Given the description of an element on the screen output the (x, y) to click on. 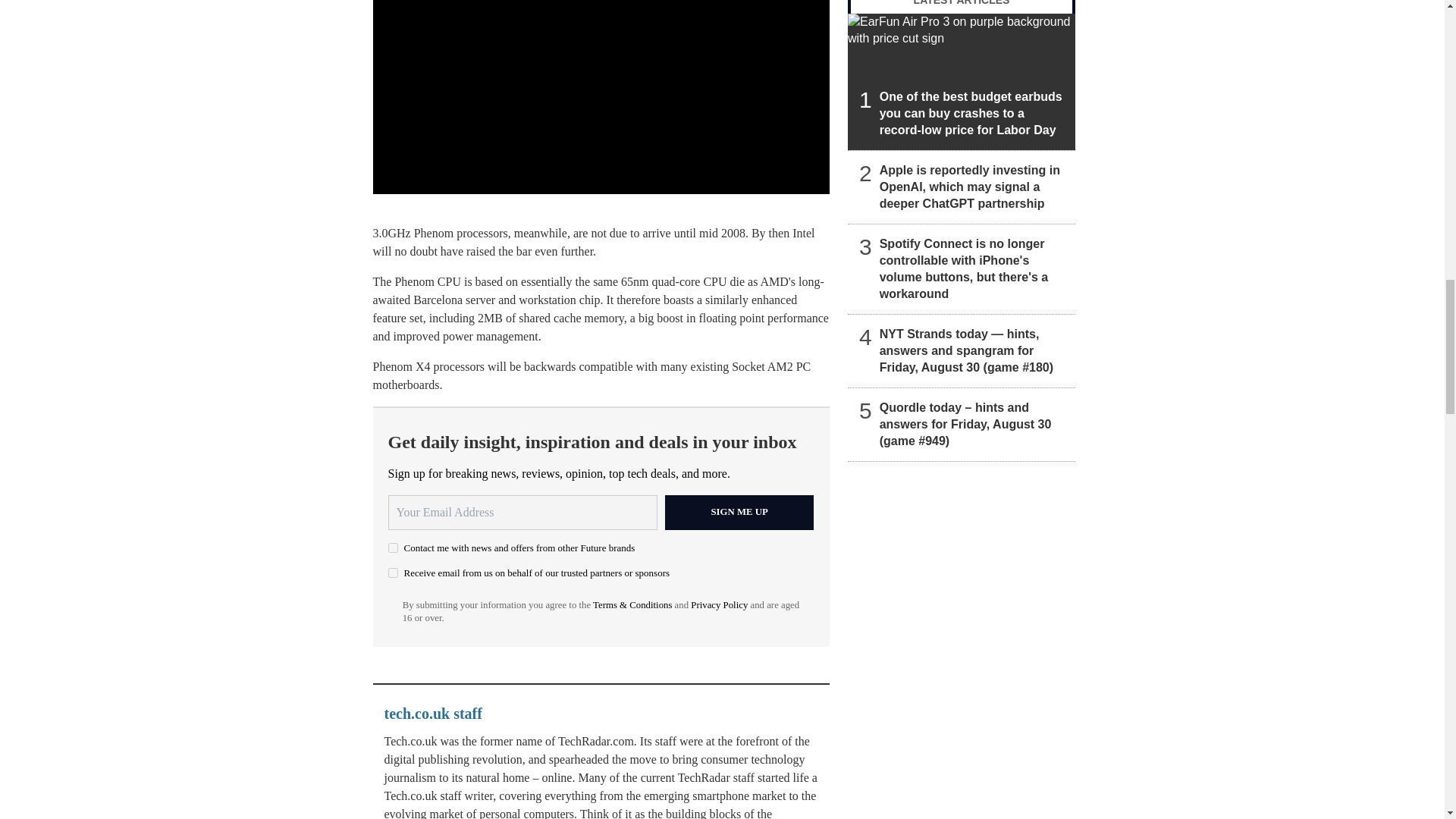
Sign me up (739, 512)
on (392, 573)
on (392, 547)
